Given the description of an element on the screen output the (x, y) to click on. 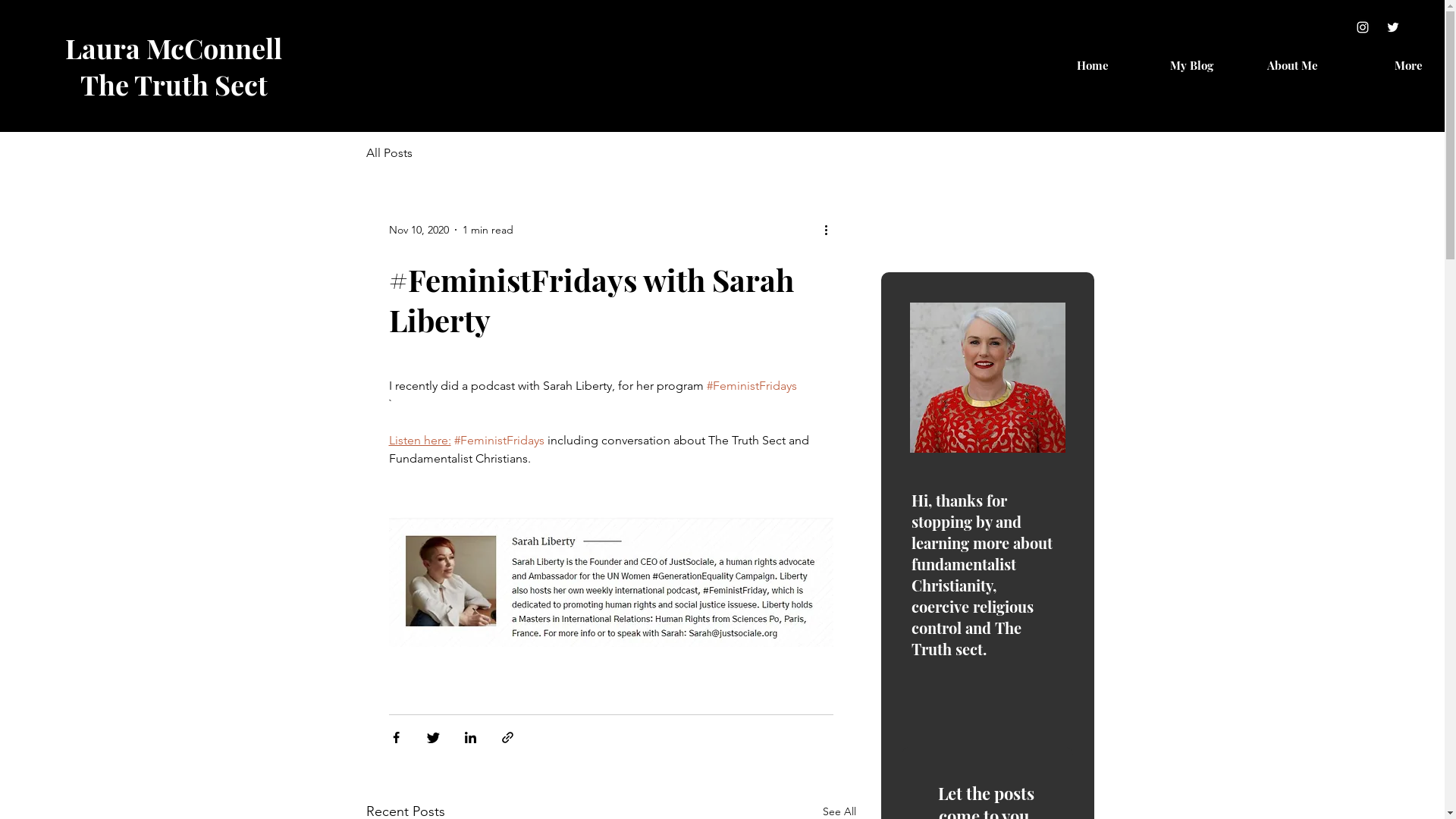
My Blog Element type: text (1172, 65)
Laura McConnell Element type: text (173, 47)
All Posts Element type: text (388, 152)
#FeministFridays Element type: text (751, 385)
Listen here: Element type: text (419, 440)
Home Element type: text (1067, 65)
About Me Element type: text (1276, 65)
#FeministFridays Element type: text (498, 440)
